Given the description of an element on the screen output the (x, y) to click on. 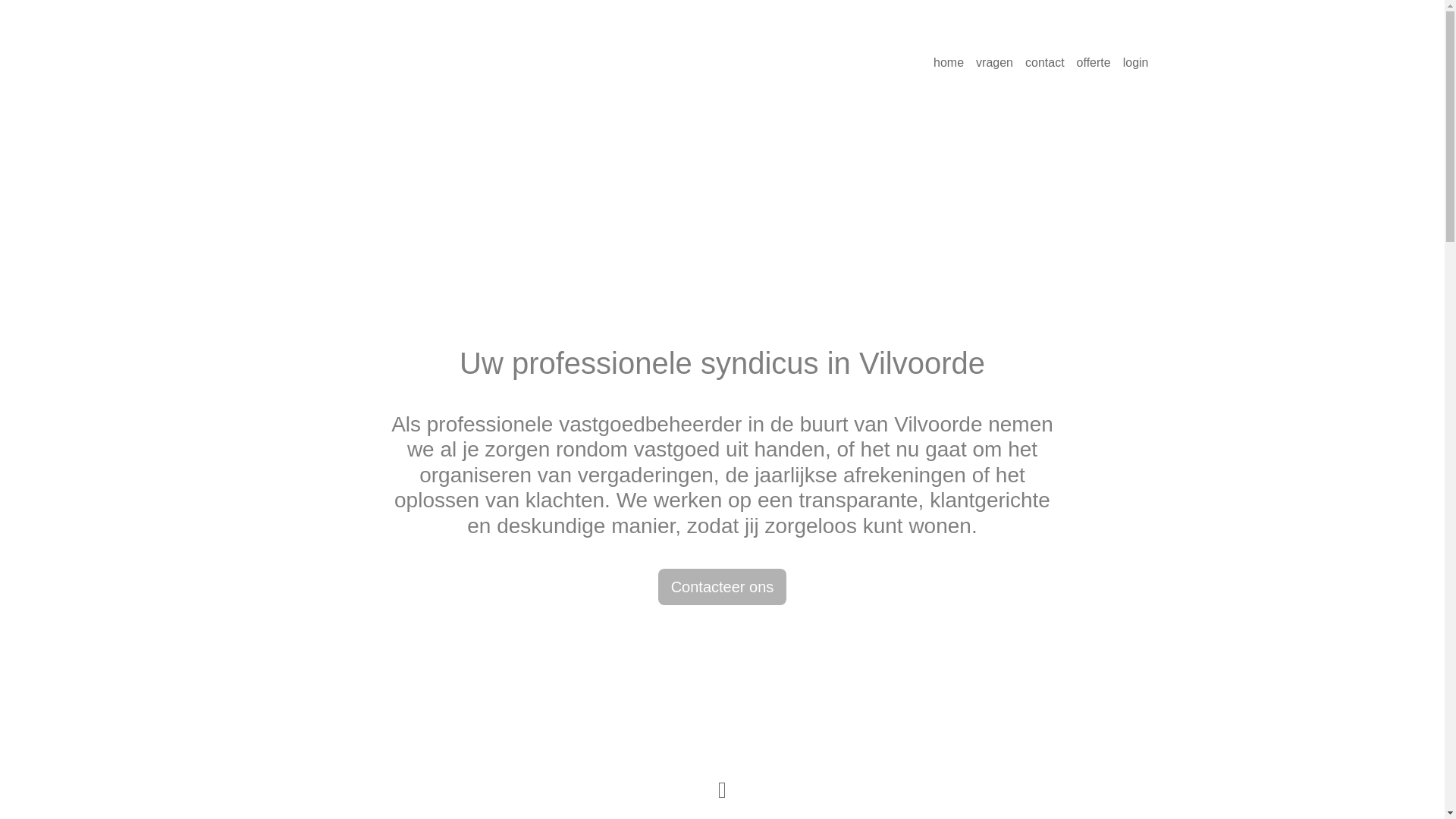
home Element type: text (948, 62)
contact Element type: text (1044, 62)
vragen Element type: text (994, 62)
login Element type: text (1135, 62)
offerte Element type: text (1093, 62)
Contacteer ons Element type: text (722, 586)
